Given the description of an element on the screen output the (x, y) to click on. 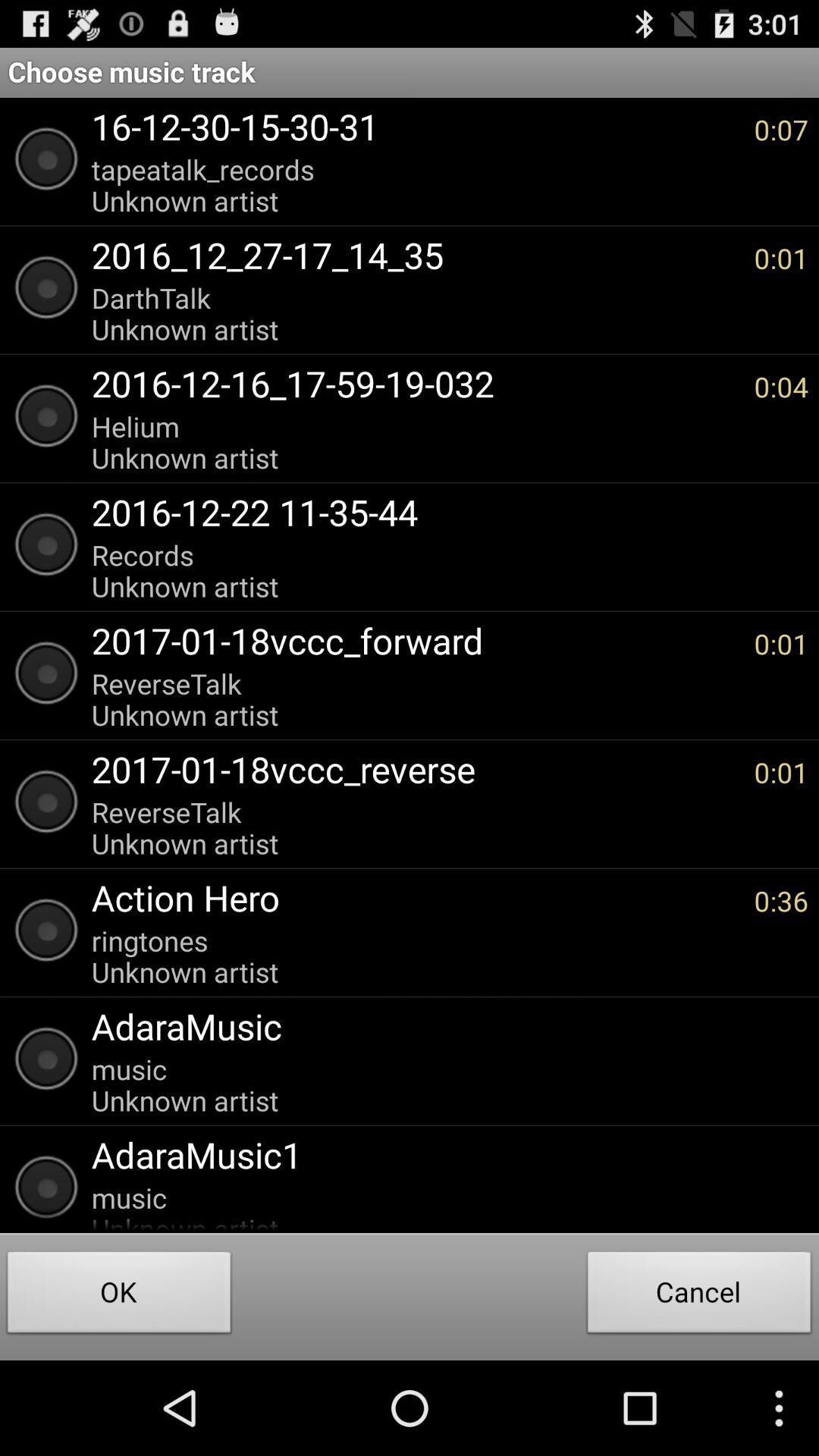
choose the app below the ringtones
unknown artist icon (441, 1026)
